Given the description of an element on the screen output the (x, y) to click on. 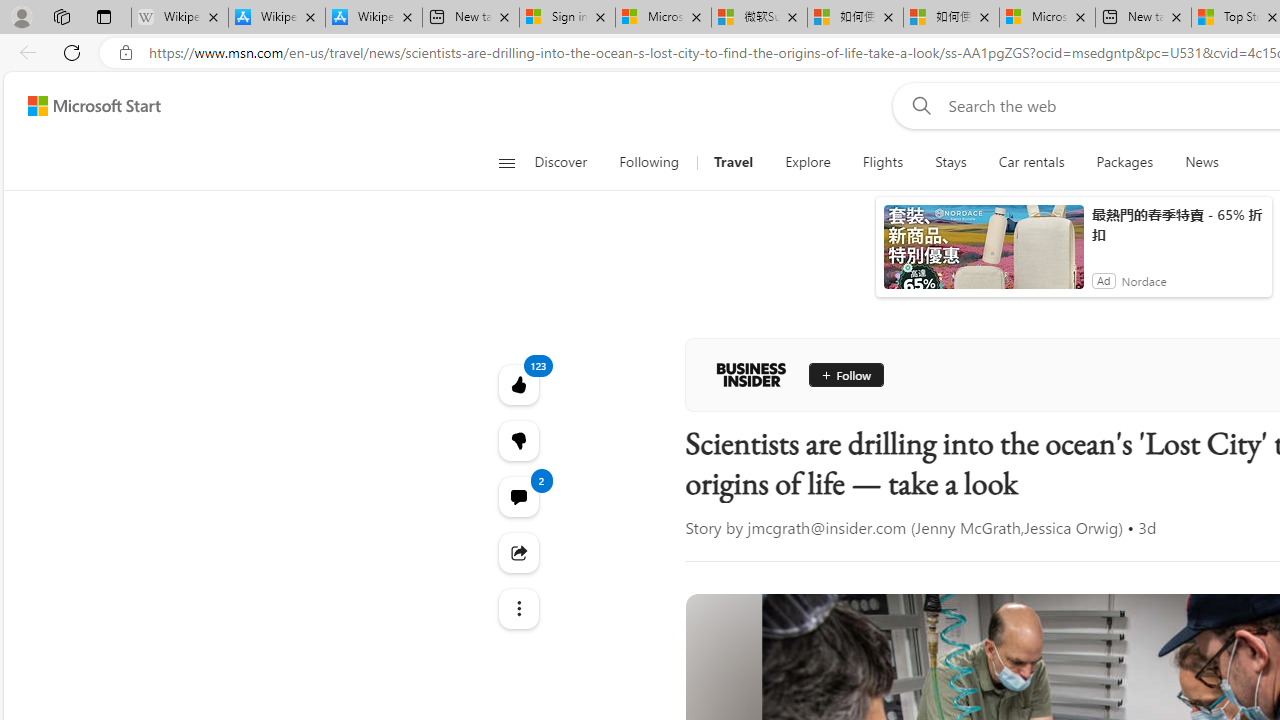
Flights (883, 162)
Flights (882, 162)
Class: at-item (517, 609)
Car rentals (1031, 162)
Car rentals (1031, 162)
